Given the description of an element on the screen output the (x, y) to click on. 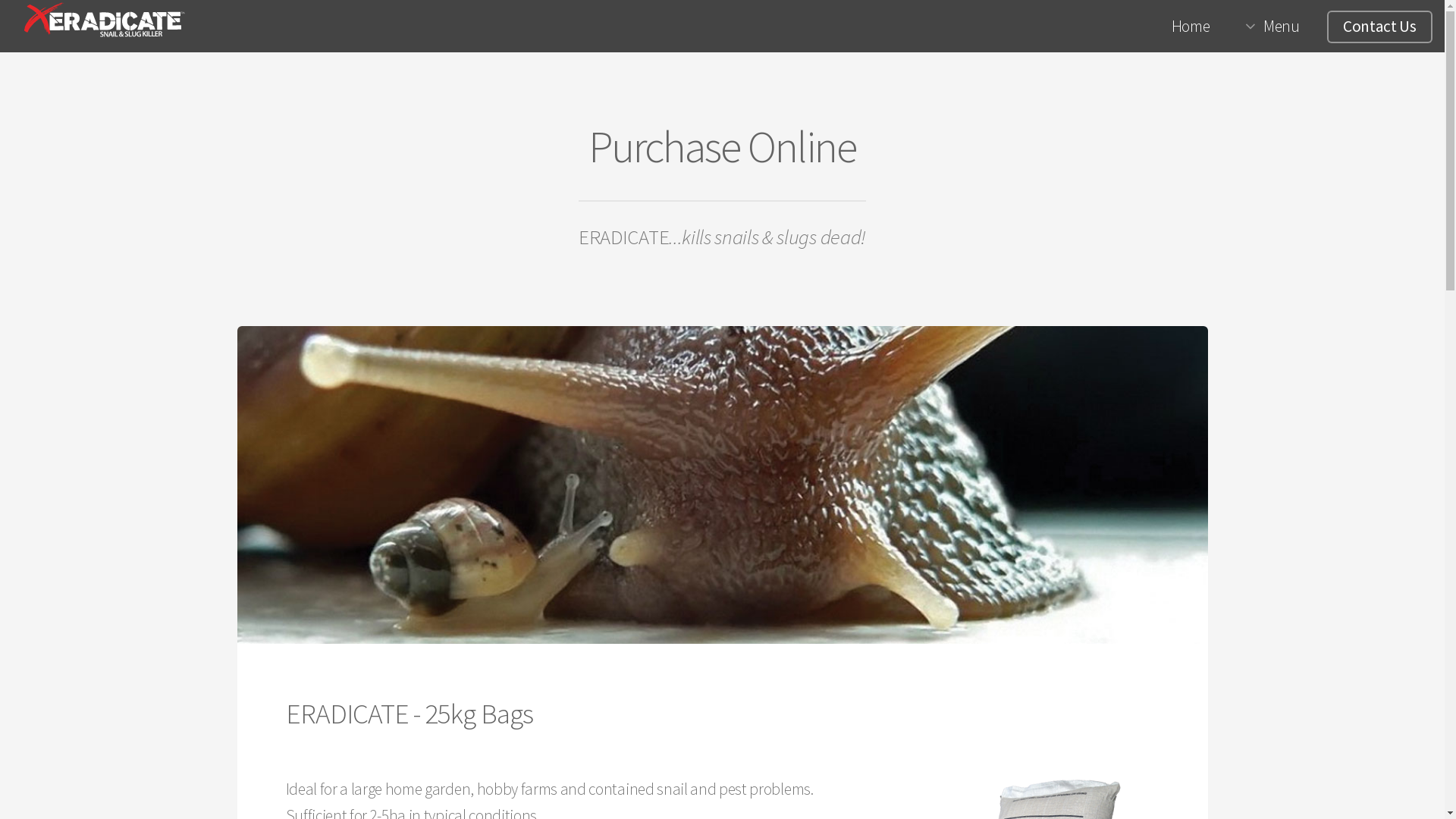
Home Element type: text (1189, 26)
Menu Element type: text (1271, 26)
Contact Us Element type: text (1379, 26)
